Given the description of an element on the screen output the (x, y) to click on. 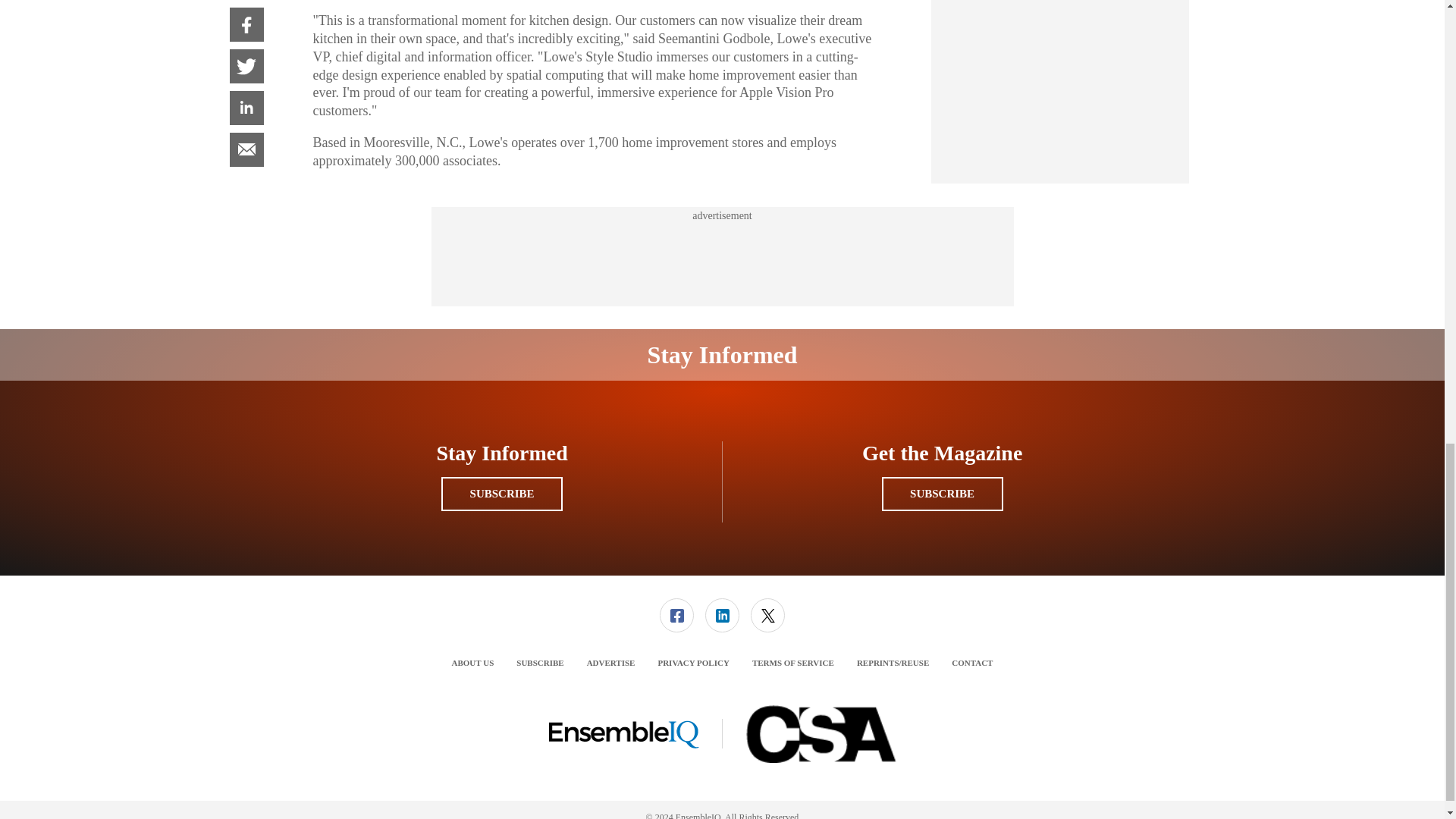
3rd party ad content (721, 256)
SUBSCRIBE (501, 493)
